Given the description of an element on the screen output the (x, y) to click on. 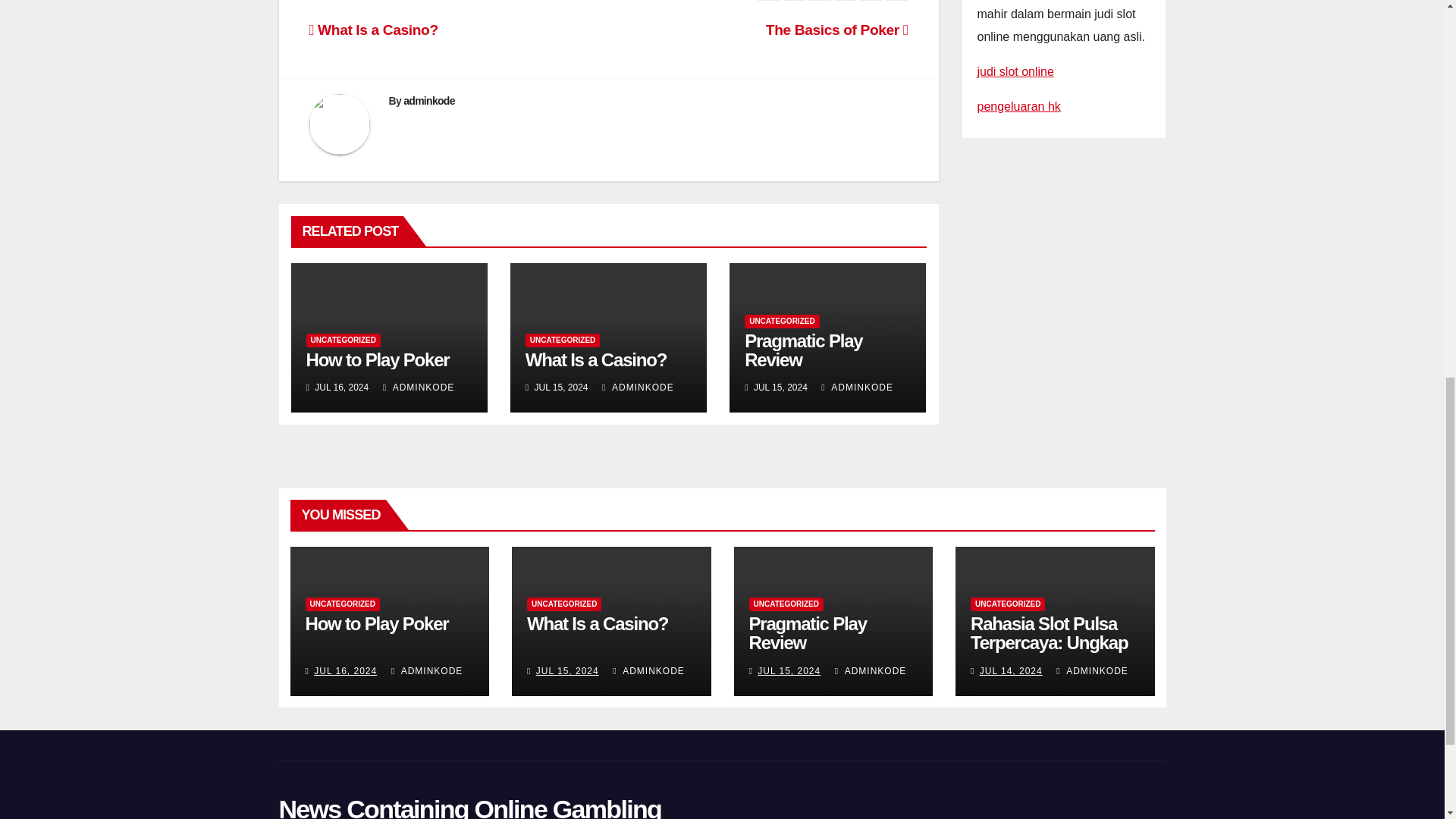
Permalink to: Pragmatic Play Review (802, 350)
What Is a Casino? (373, 29)
What Is a Casino? (595, 359)
UNCATEGORIZED (562, 340)
UNCATEGORIZED (342, 340)
ADMINKODE (418, 387)
Permalink to: Pragmatic Play Review (807, 632)
Permalink to: How to Play Poker (376, 623)
Pragmatic Play Review (802, 350)
ADMINKODE (638, 387)
adminkode (428, 101)
How to Play Poker (377, 359)
The Basics of Poker (836, 29)
ADMINKODE (857, 387)
